Given the description of an element on the screen output the (x, y) to click on. 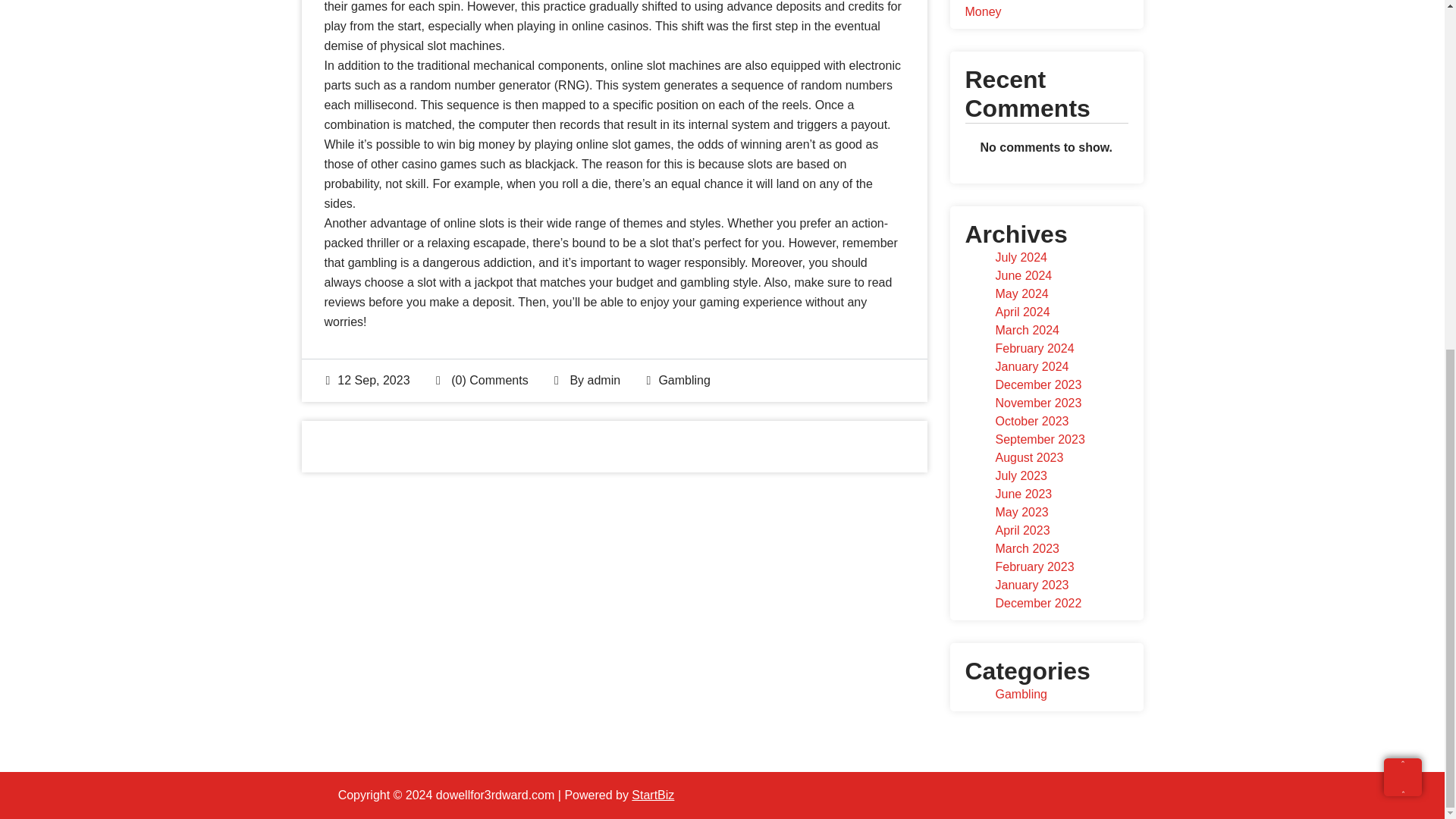
Gambling (684, 379)
May 2023 (1021, 512)
April 2023 (1021, 530)
June 2023 (1022, 493)
September 2023 (1039, 439)
March 2024 (1026, 329)
April 2024 (1021, 311)
12 Sep, 2023 (368, 379)
June 2024 (1022, 275)
November 2023 (1037, 402)
March 2023 (1026, 548)
admin (603, 379)
How to Play the Lottery Responsibly and Protect Your Money (1043, 9)
July 2023 (1020, 475)
July 2024 (1020, 256)
